Given the description of an element on the screen output the (x, y) to click on. 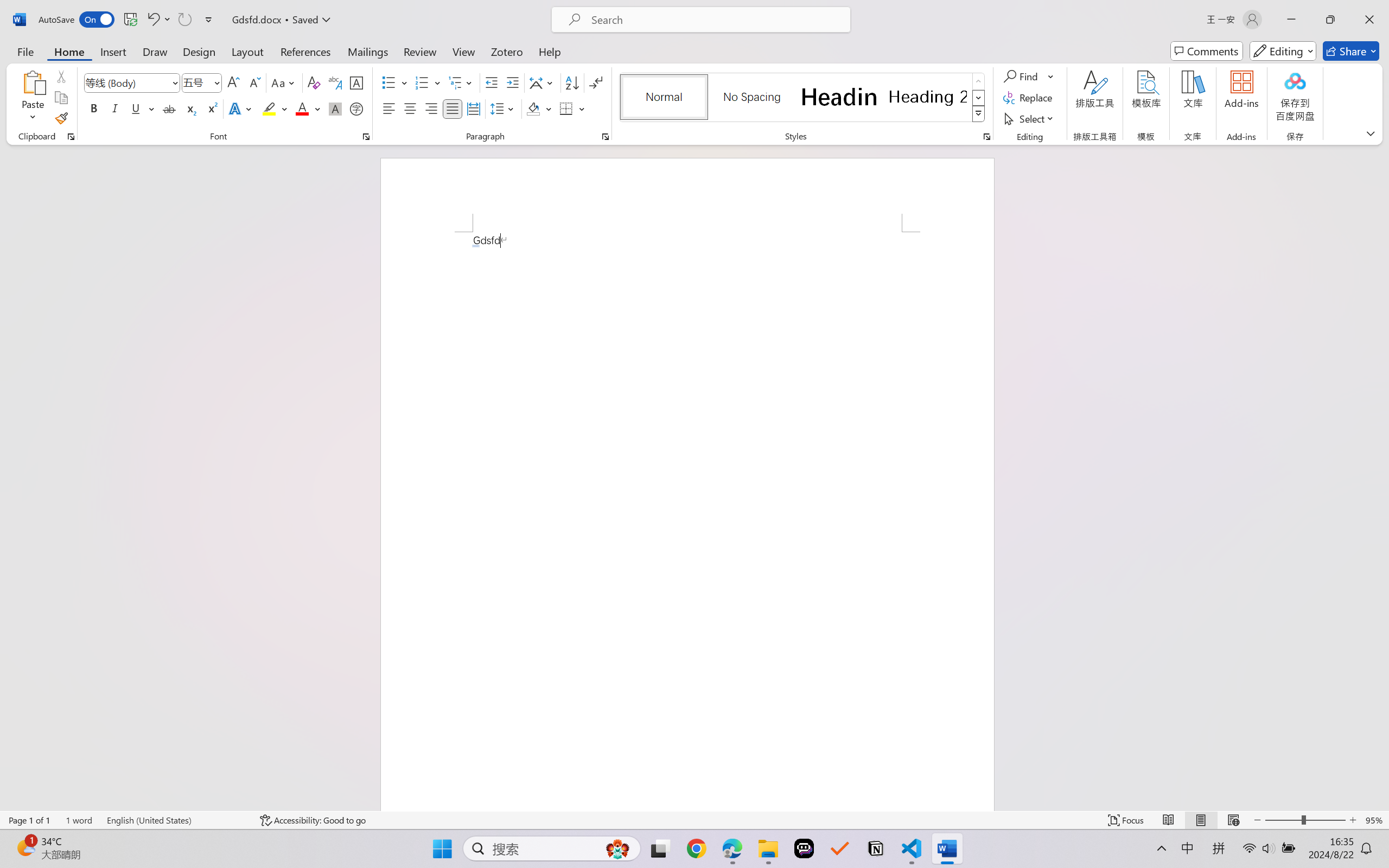
Multilevel List (461, 82)
Text Highlight Color Yellow (269, 108)
Undo AutoCorrect (158, 19)
Clear Formatting (313, 82)
Shading (539, 108)
Zoom 95% (1374, 819)
Styles... (986, 136)
Enclose Characters... (356, 108)
